Given the description of an element on the screen output the (x, y) to click on. 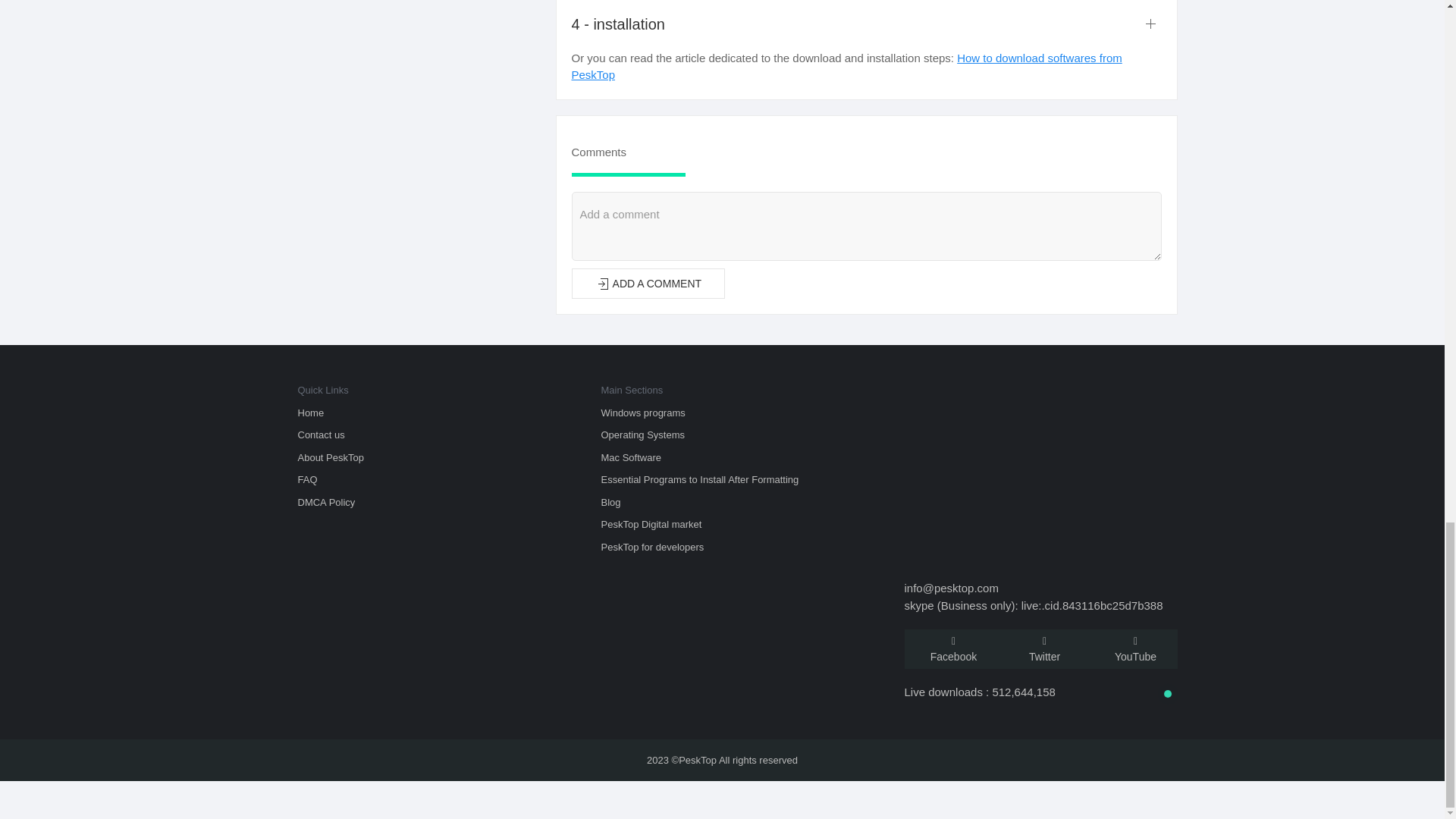
ADD A COMMENT (648, 283)
How to download softwares from PeskTop (847, 66)
4 - installation (866, 24)
